Given the description of an element on the screen output the (x, y) to click on. 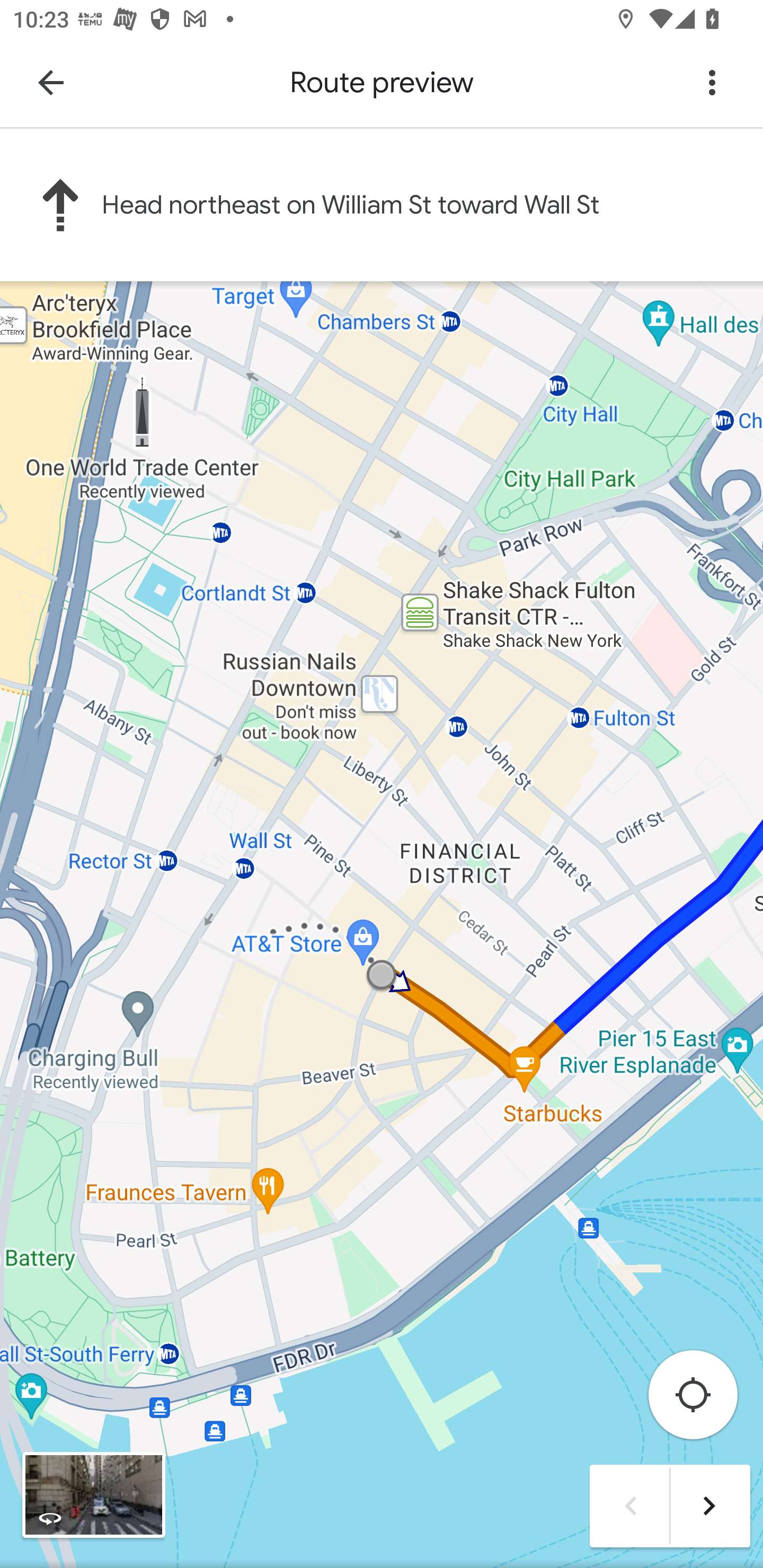
Navigate up (50, 81)
Overflow menu (711, 81)
Head northeast on William St toward Wall St (381, 204)
Re-center map to your location (702, 1399)
Show next (708, 1505)
